Given the description of an element on the screen output the (x, y) to click on. 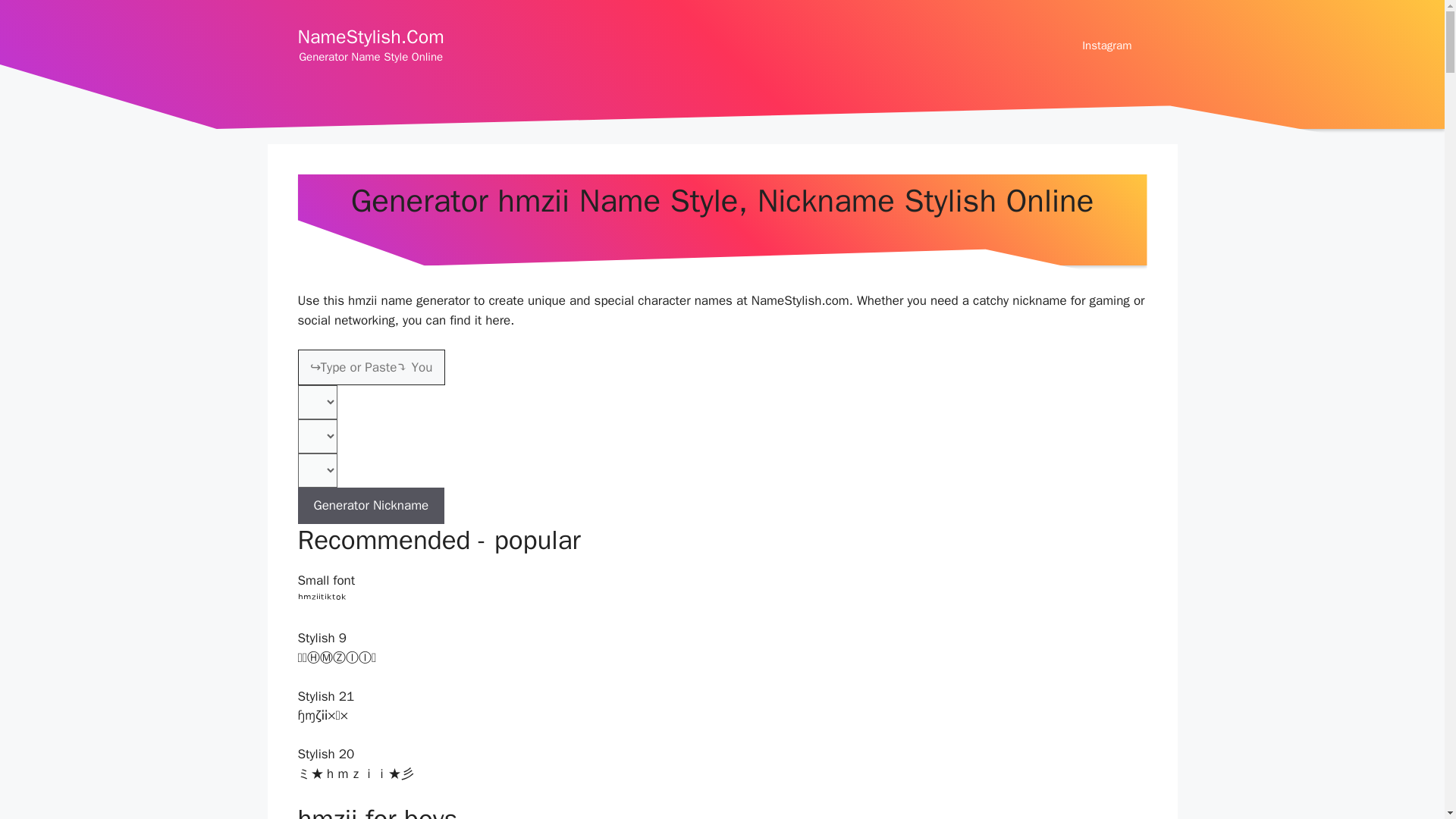
Generator Nickname (370, 505)
Instagram (1107, 44)
NameStylish.Com (370, 36)
